Given the description of an element on the screen output the (x, y) to click on. 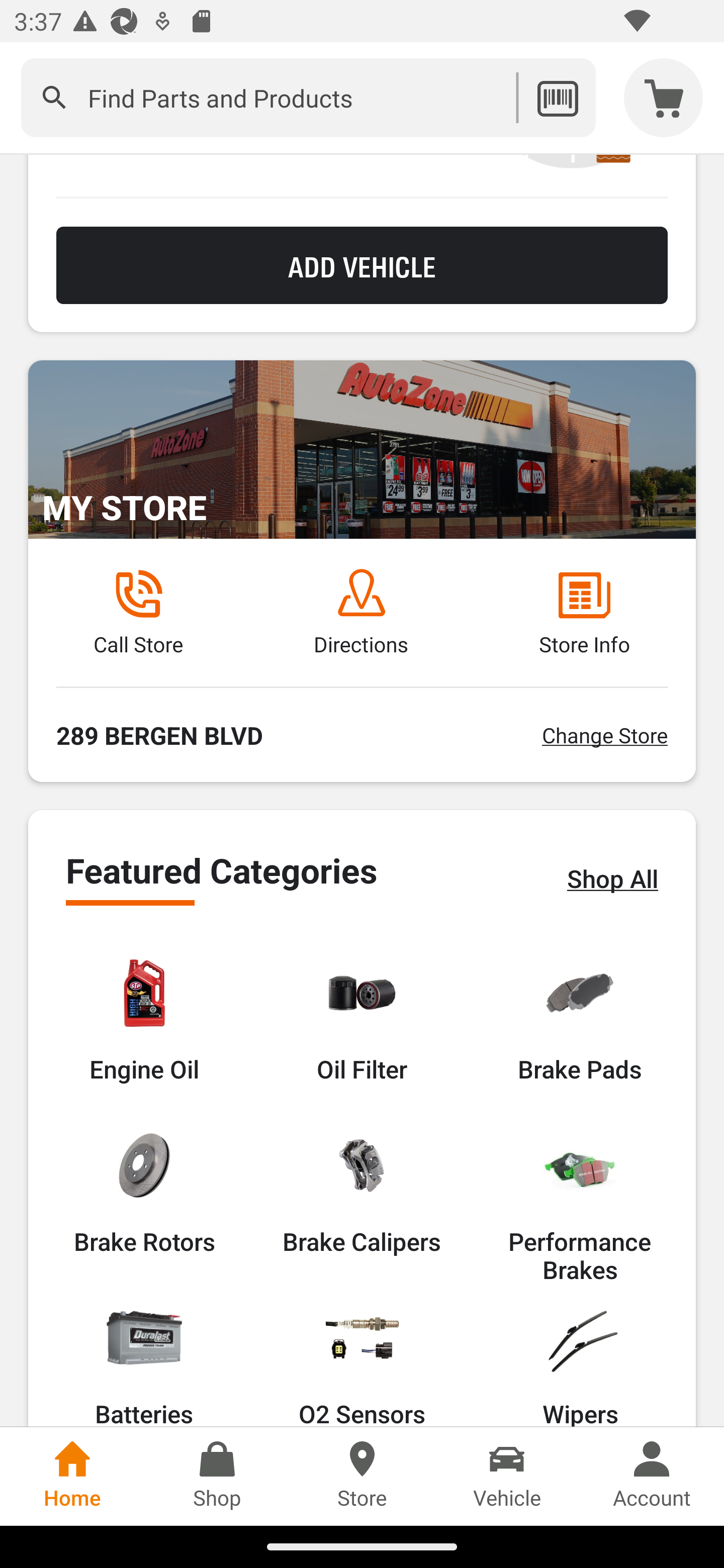
 scan-product-to-search  (557, 97)
 (54, 97)
Cart, no items  (663, 97)
ADD VEHICLE (361, 265)
Call Store  Call Store (138, 612)
Directions  Directions (361, 612)
Store Info  Store Info (584, 612)
Change Selected Store Change Store (604, 735)
Shop All Featured Categories Shop All (612, 877)
Engine Oil (144, 1019)
Oil Filter (361, 1019)
Brake Pads (579, 1019)
Brake Rotors (144, 1192)
Brake Calipers (361, 1192)
Performance Brakes (579, 1206)
Batteries (143, 1362)
O2 Sensors (361, 1362)
Wipers (580, 1362)
Home (72, 1475)
Shop (216, 1475)
Store (361, 1475)
Vehicle (506, 1475)
Account (651, 1475)
